Given the description of an element on the screen output the (x, y) to click on. 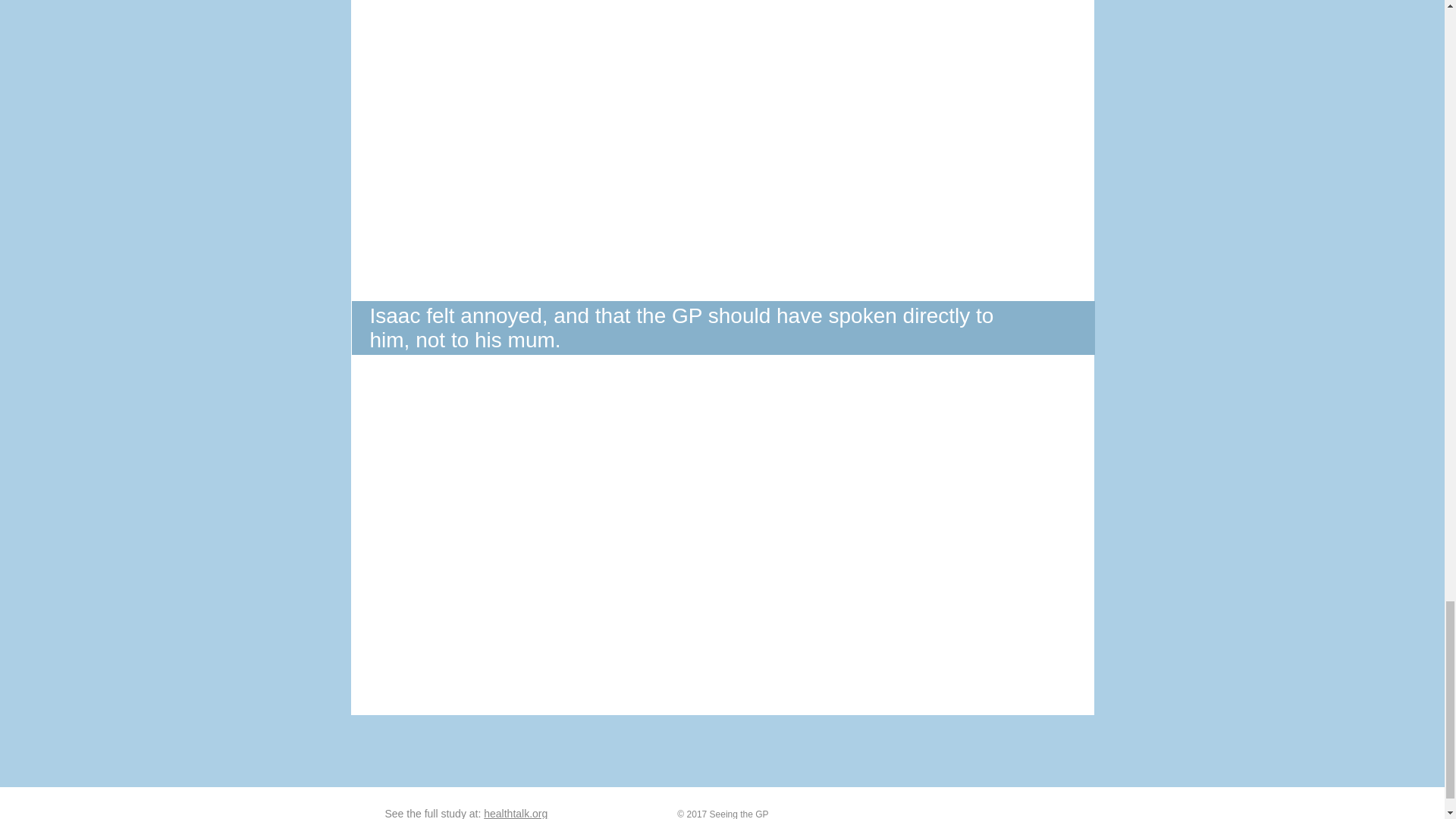
healthtalk.org (515, 813)
